Given the description of an element on the screen output the (x, y) to click on. 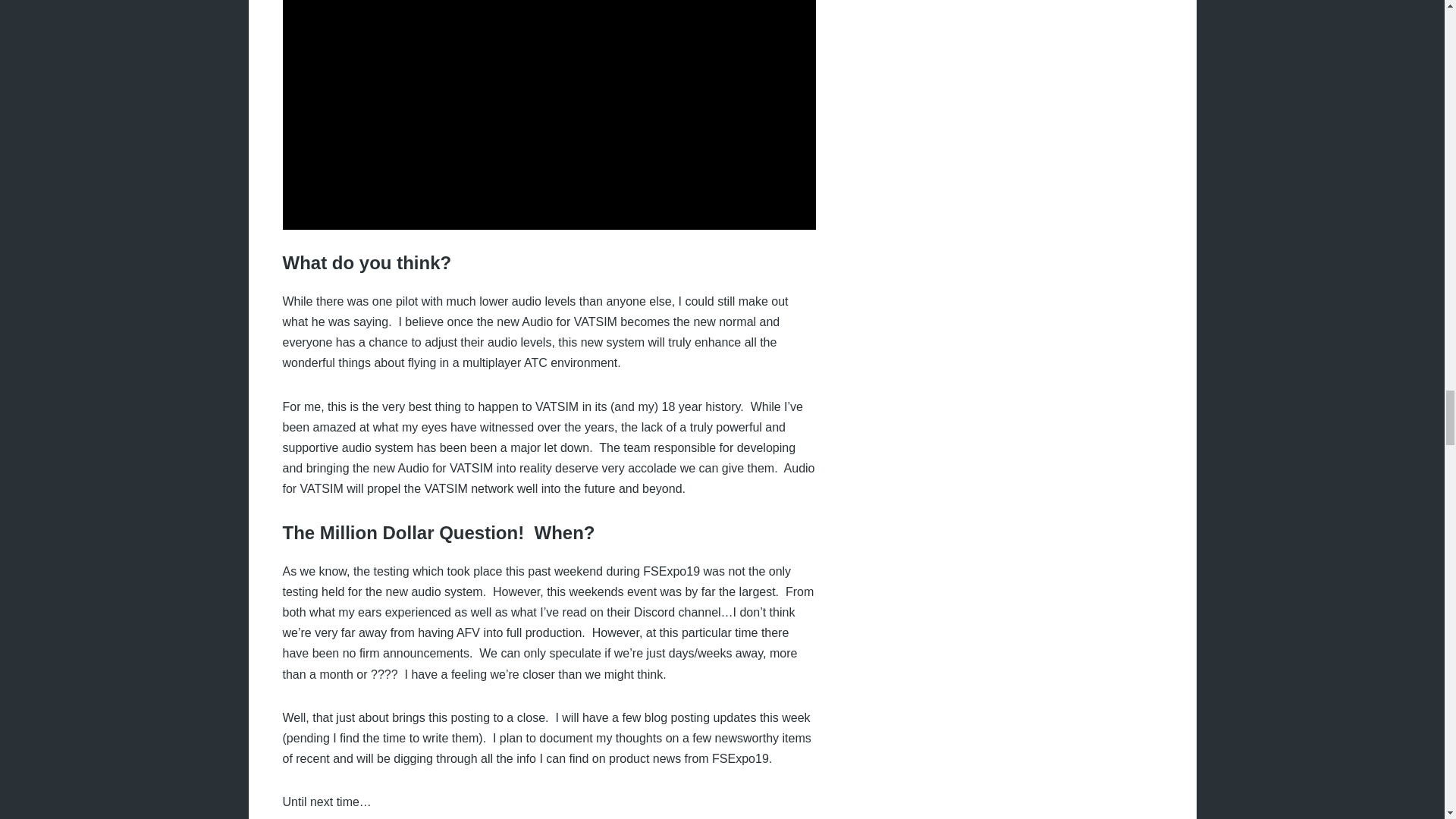
YouTube video player (548, 115)
